Given the description of an element on the screen output the (x, y) to click on. 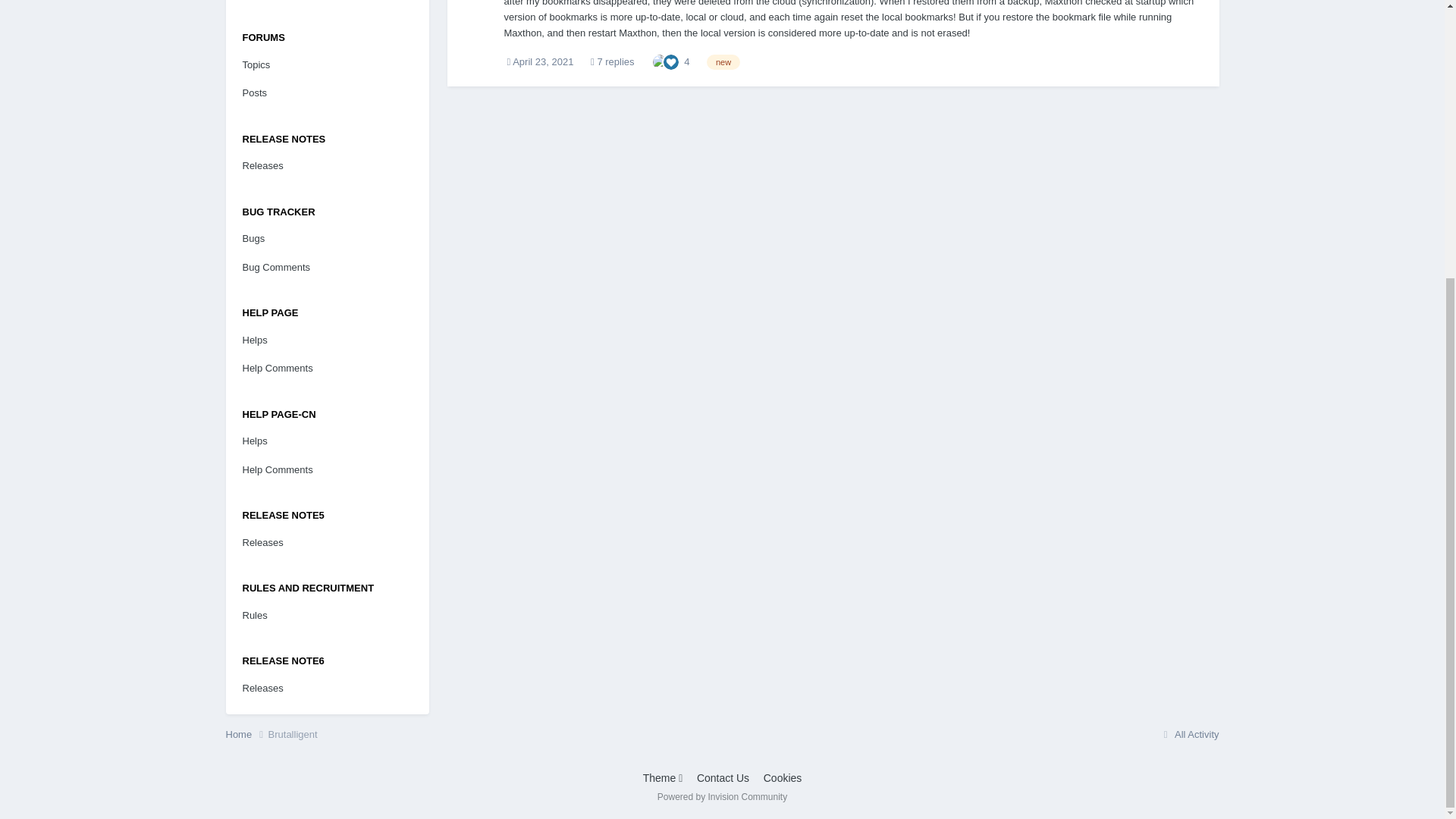
Thanks (659, 60)
Find other content tagged with 'new' (722, 61)
Like (670, 60)
Invision Community (722, 796)
Home (246, 734)
